Given the description of an element on the screen output the (x, y) to click on. 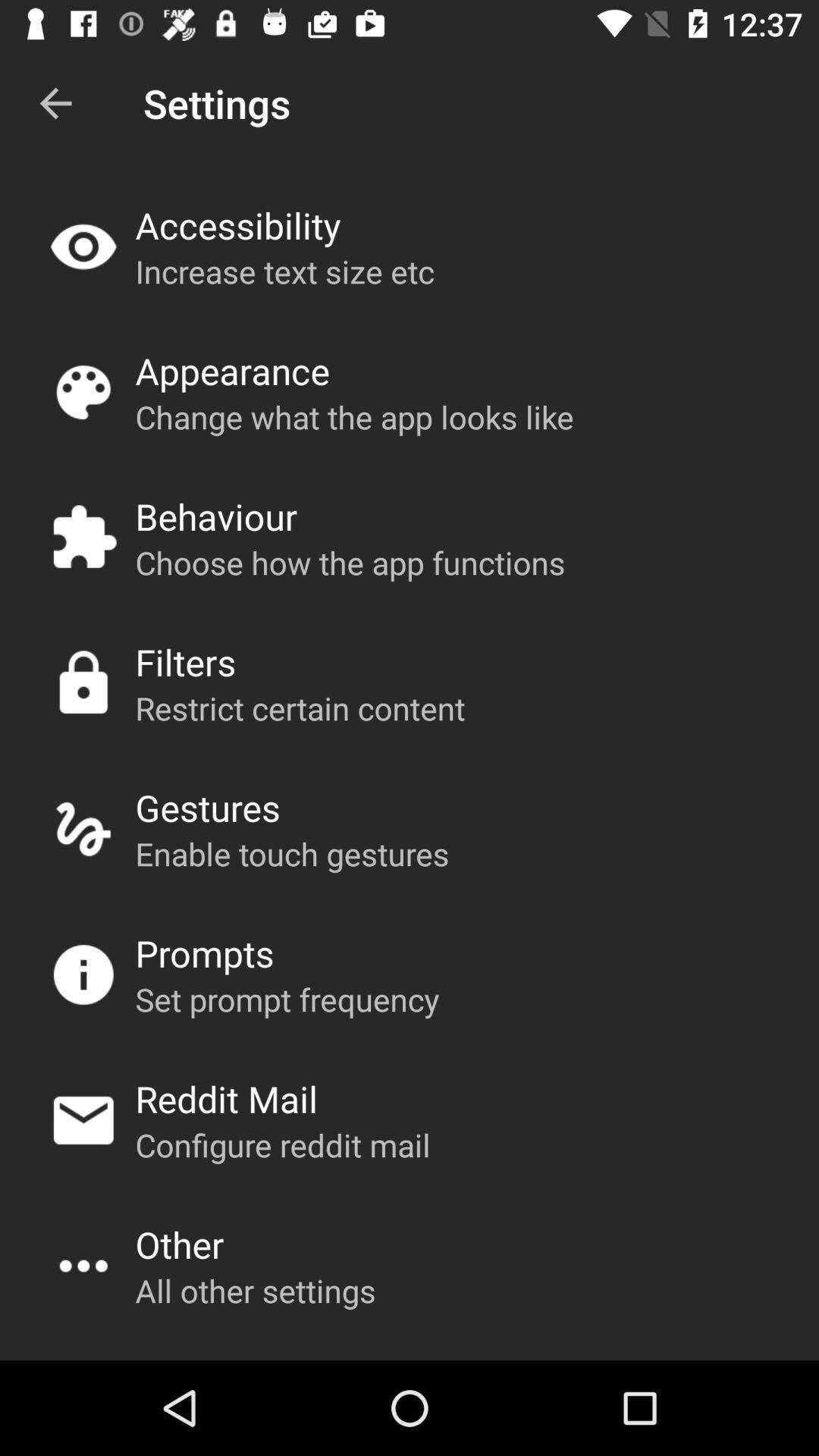
choose the set prompt frequency icon (287, 998)
